Given the description of an element on the screen output the (x, y) to click on. 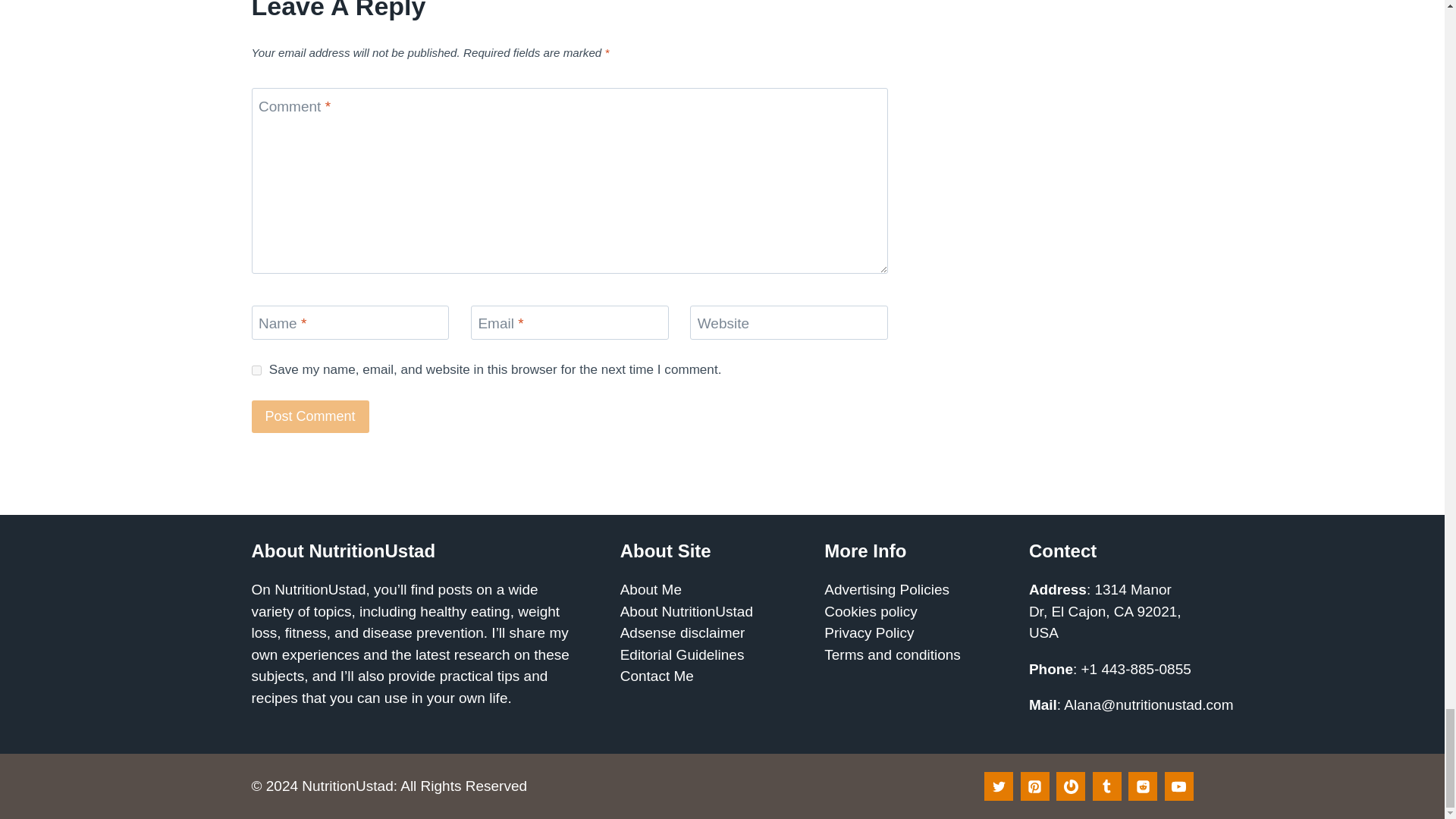
yes (256, 370)
Post Comment (310, 416)
